Given the description of an element on the screen output the (x, y) to click on. 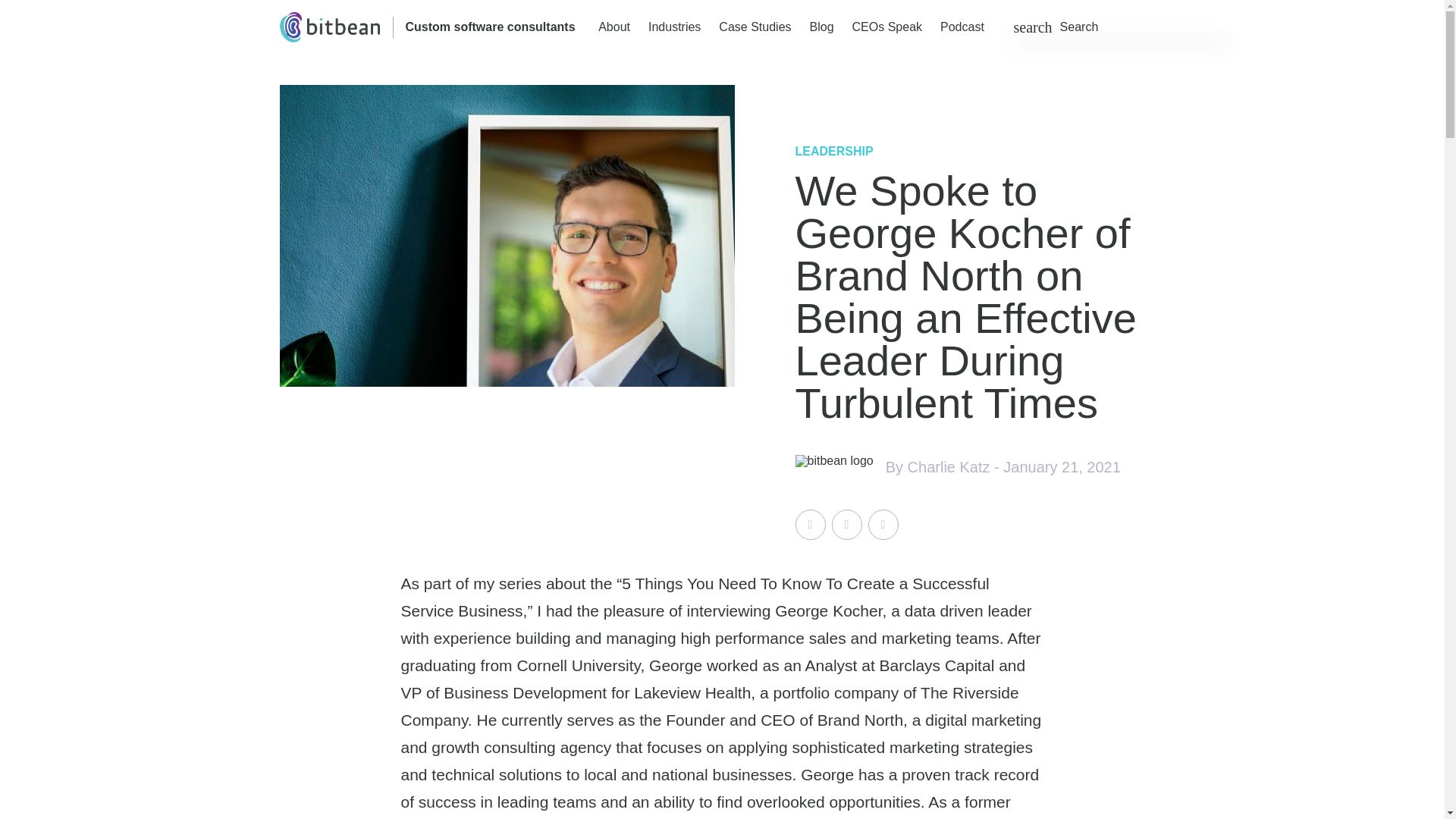
Case Studies (754, 26)
CEOs Speak (886, 26)
Share via Email (882, 524)
Share on Facebook (846, 524)
About (614, 26)
Charlie Katz (948, 466)
Share on Twitter (809, 524)
Custom software consultants (490, 26)
Podcast (962, 26)
Blog (821, 26)
